Given the description of an element on the screen output the (x, y) to click on. 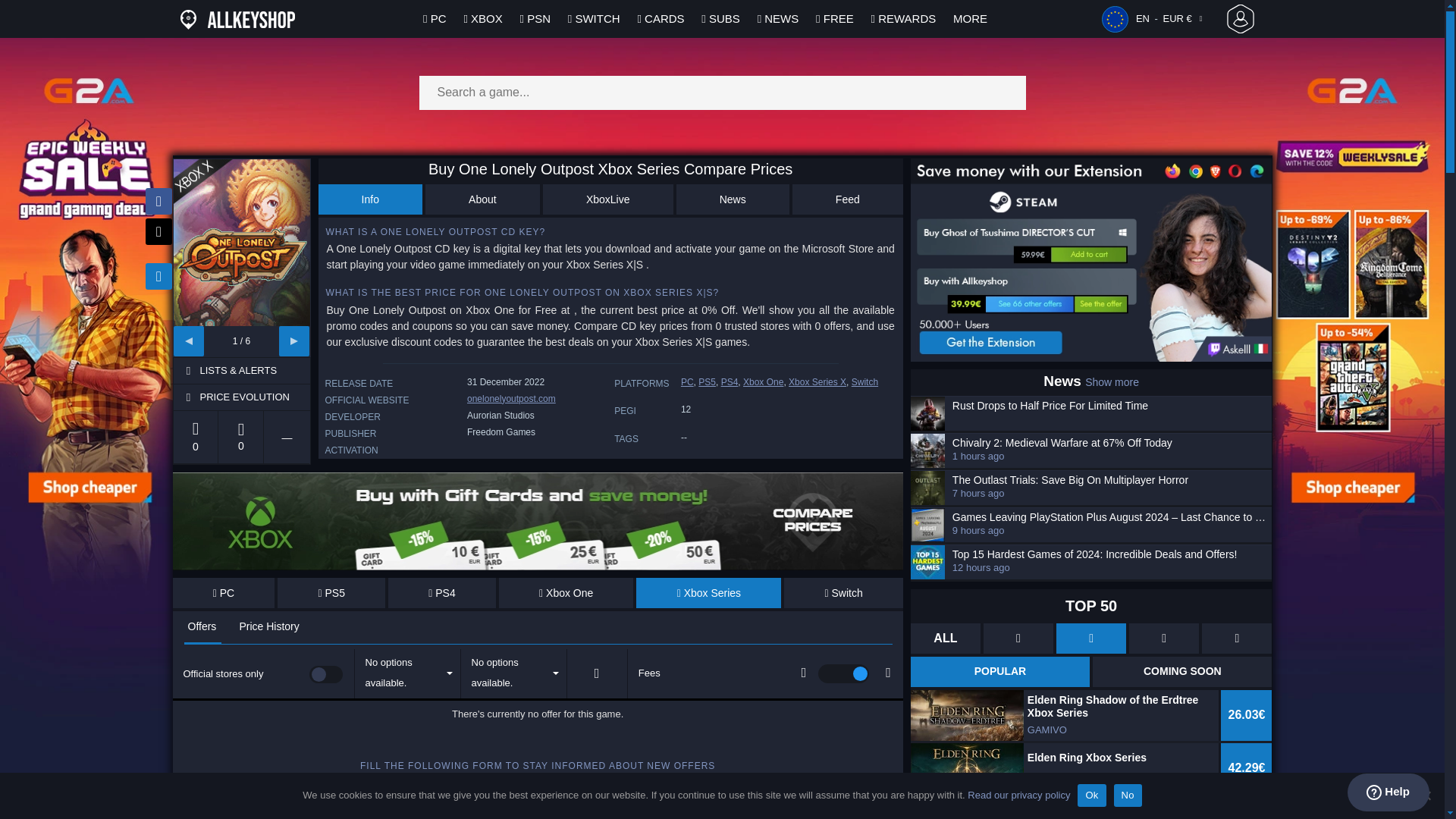
SWITCH (594, 18)
PSN (535, 18)
XBOX (482, 18)
 PS5 (331, 593)
Price evolution (252, 396)
 PC (224, 593)
